Given the description of an element on the screen output the (x, y) to click on. 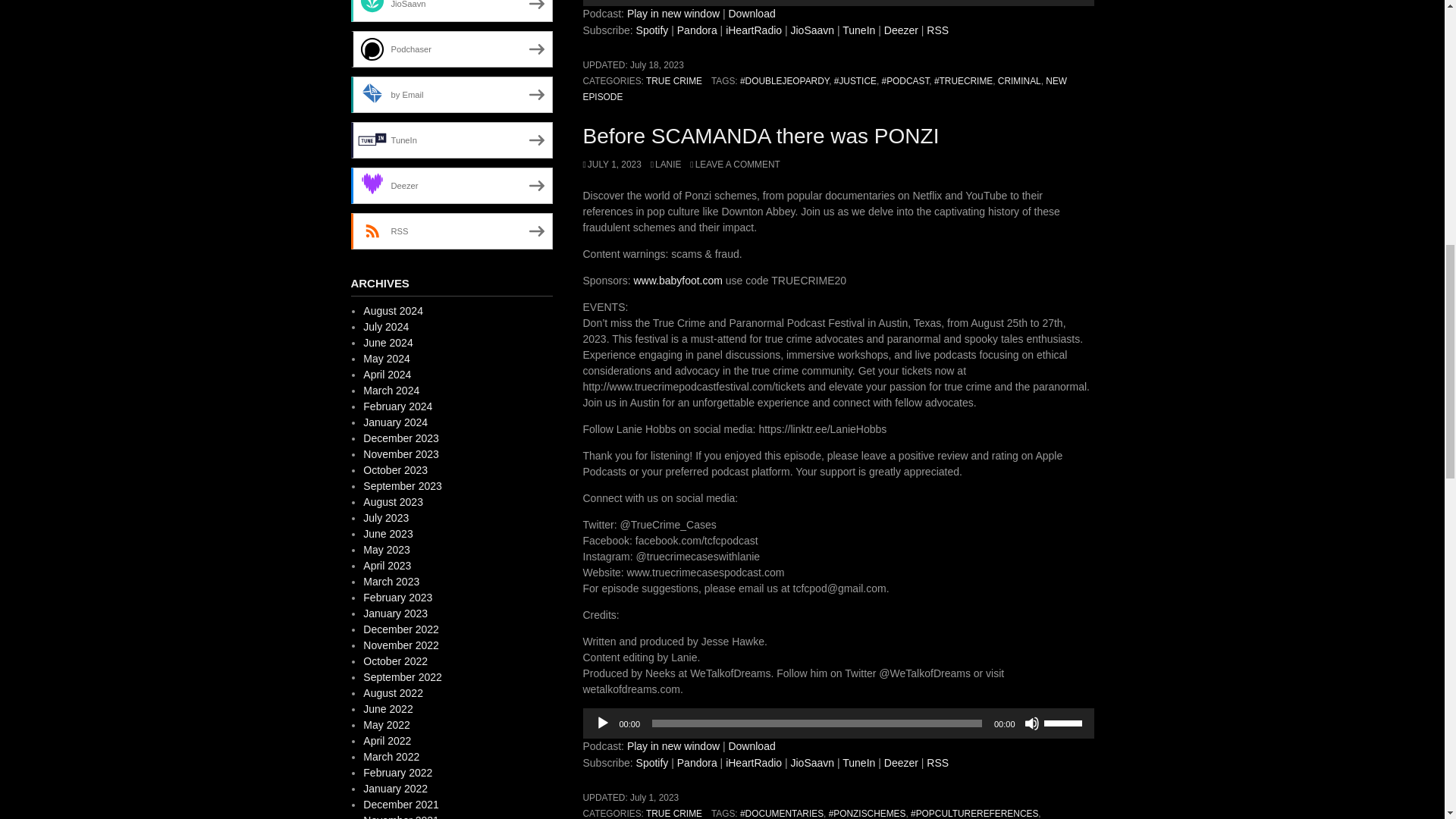
Subscribe on Deezer (900, 30)
Before SCAMANDA there was PONZI (760, 136)
July 18, 2023 (657, 64)
JULY 1, 2023 (611, 163)
TRUE CRIME (673, 81)
Subscribe on Spotify (652, 762)
Subscribe on JioSaavn (812, 30)
JioSaavn (812, 30)
Play in new window (673, 13)
Deezer (900, 30)
